Given the description of an element on the screen output the (x, y) to click on. 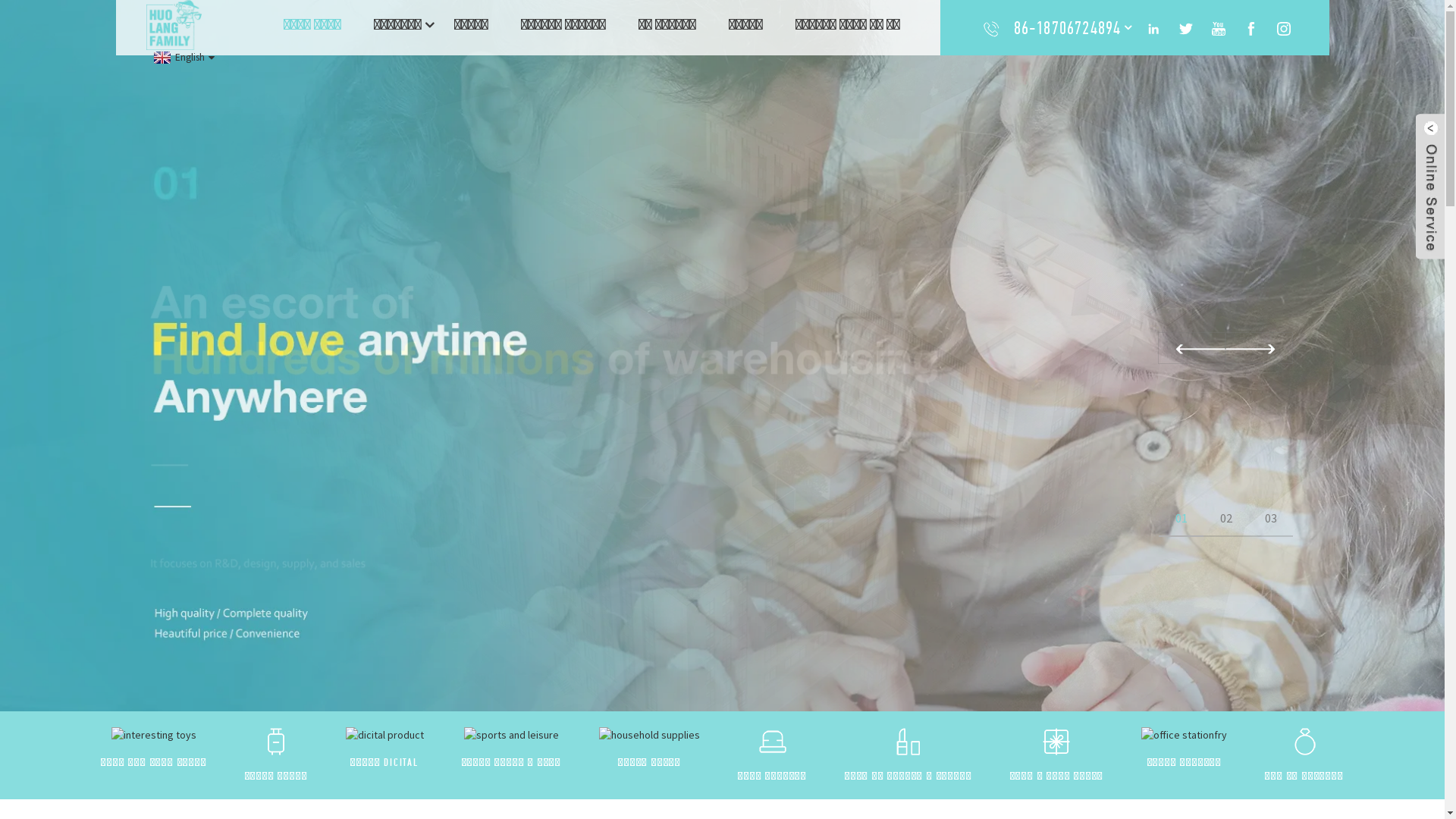
English Element type: text (182, 57)
86-18706724894 Element type: text (1067, 27)
86-19858928898 Element type: text (1067, 61)
